Given the description of an element on the screen output the (x, y) to click on. 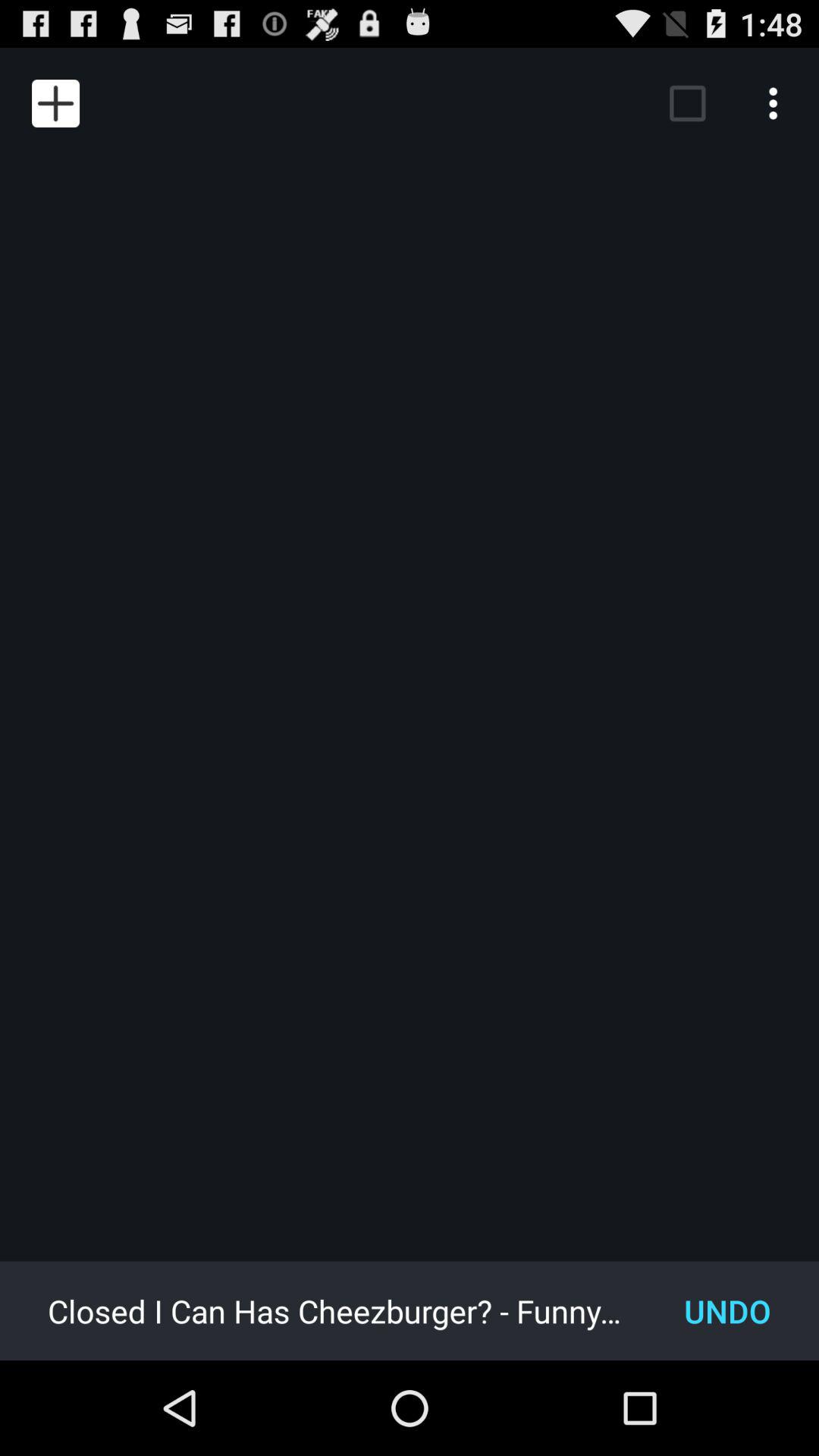
select the item above undo item (687, 103)
